Given the description of an element on the screen output the (x, y) to click on. 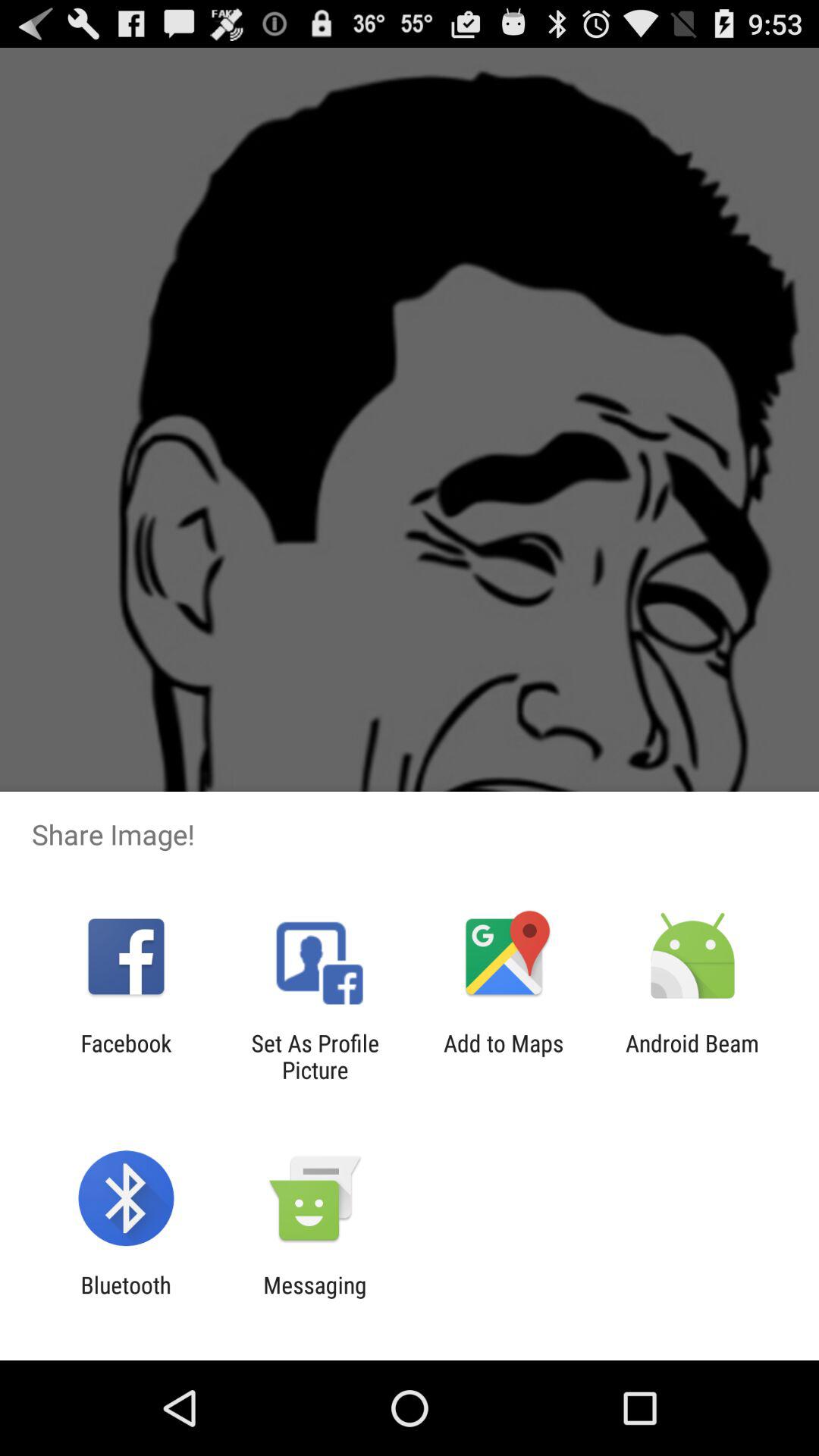
launch icon to the right of add to maps app (692, 1056)
